Given the description of an element on the screen output the (x, y) to click on. 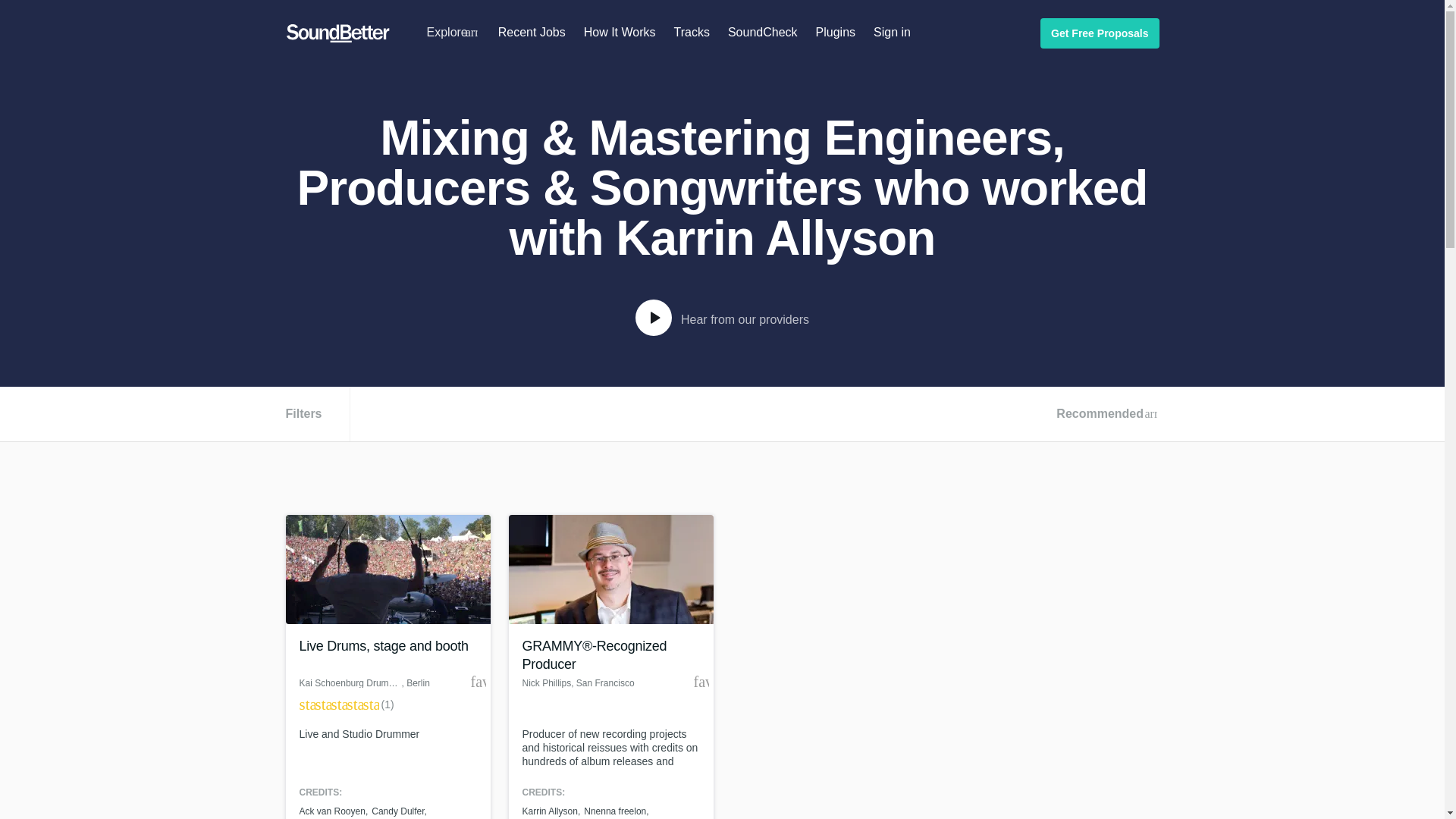
SoundBetter (337, 33)
